Given the description of an element on the screen output the (x, y) to click on. 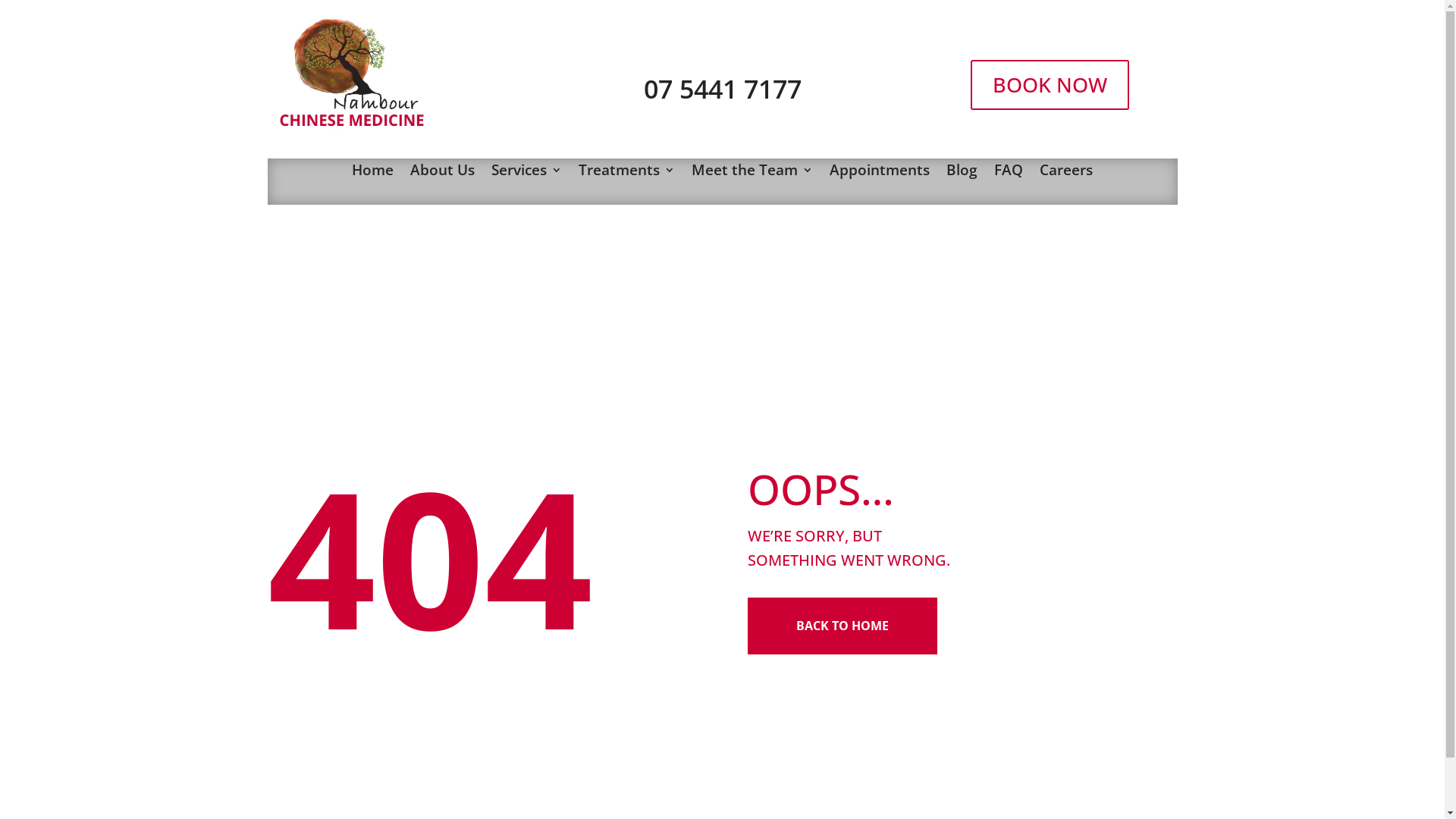
BOOK NOW Element type: text (1049, 84)
BACK TO HOME Element type: text (842, 625)
Appointments Element type: text (879, 172)
Services Element type: text (526, 172)
Careers Element type: text (1065, 172)
Blog Element type: text (961, 172)
Home Element type: text (372, 172)
Meet the Team Element type: text (751, 172)
Treatments Element type: text (626, 172)
About Us Element type: text (442, 172)
FAQ Element type: text (1008, 172)
